Given the description of an element on the screen output the (x, y) to click on. 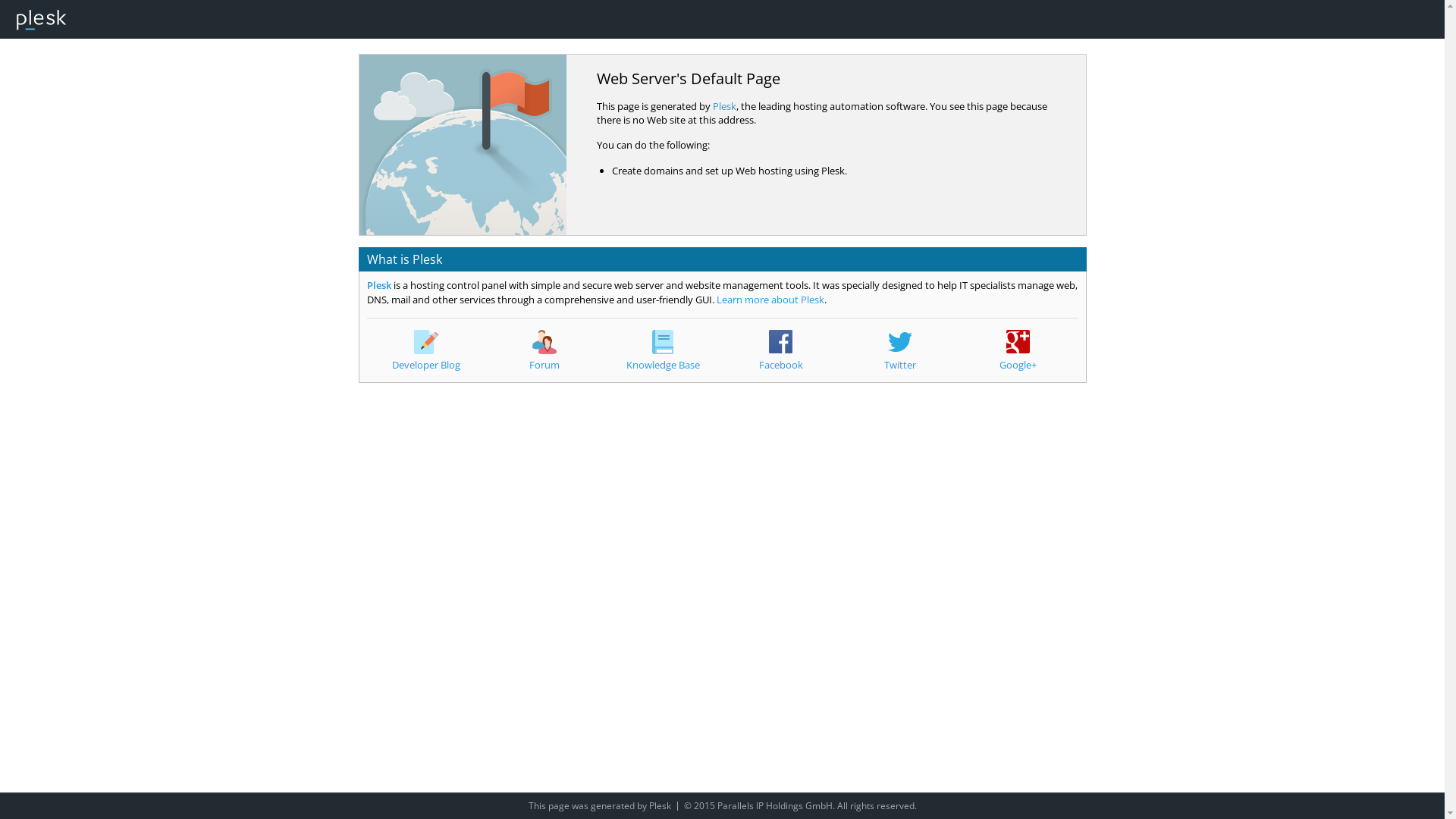
Knowledge Base Element type: text (662, 350)
Plesk Element type: text (660, 805)
Plesk Element type: text (379, 284)
Developer Blog Element type: text (426, 350)
Facebook Element type: text (781, 350)
Google+ Element type: text (1017, 350)
Learn more about Plesk Element type: text (769, 299)
Twitter Element type: text (900, 350)
Forum Element type: text (544, 350)
Plesk Element type: text (724, 105)
